Given the description of an element on the screen output the (x, y) to click on. 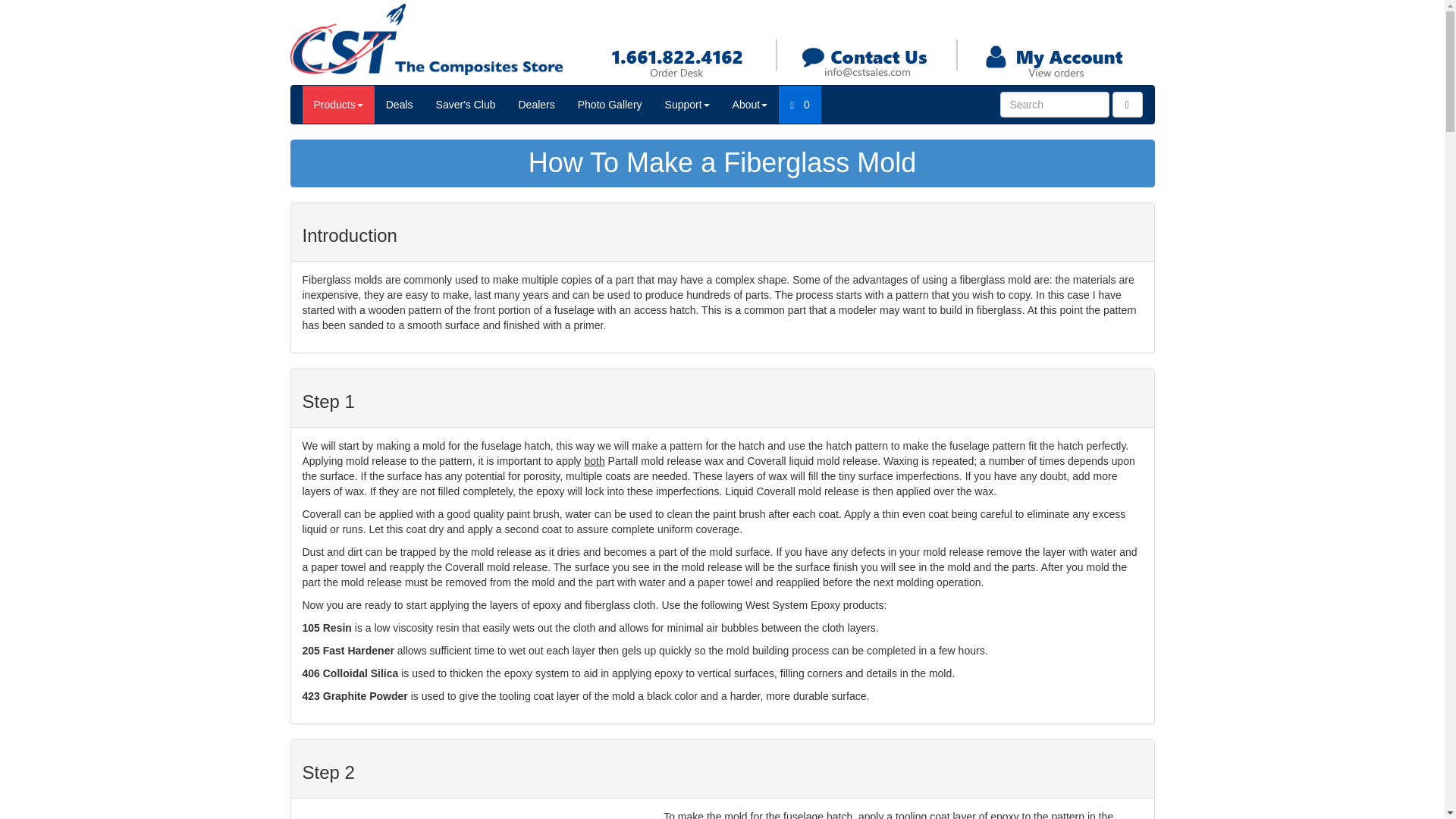
Deals (399, 104)
Saver's Club (465, 104)
 0 (799, 104)
Dealers (536, 104)
About (749, 104)
Support (686, 104)
Products (337, 104)
Photo Gallery (609, 104)
